Given the description of an element on the screen output the (x, y) to click on. 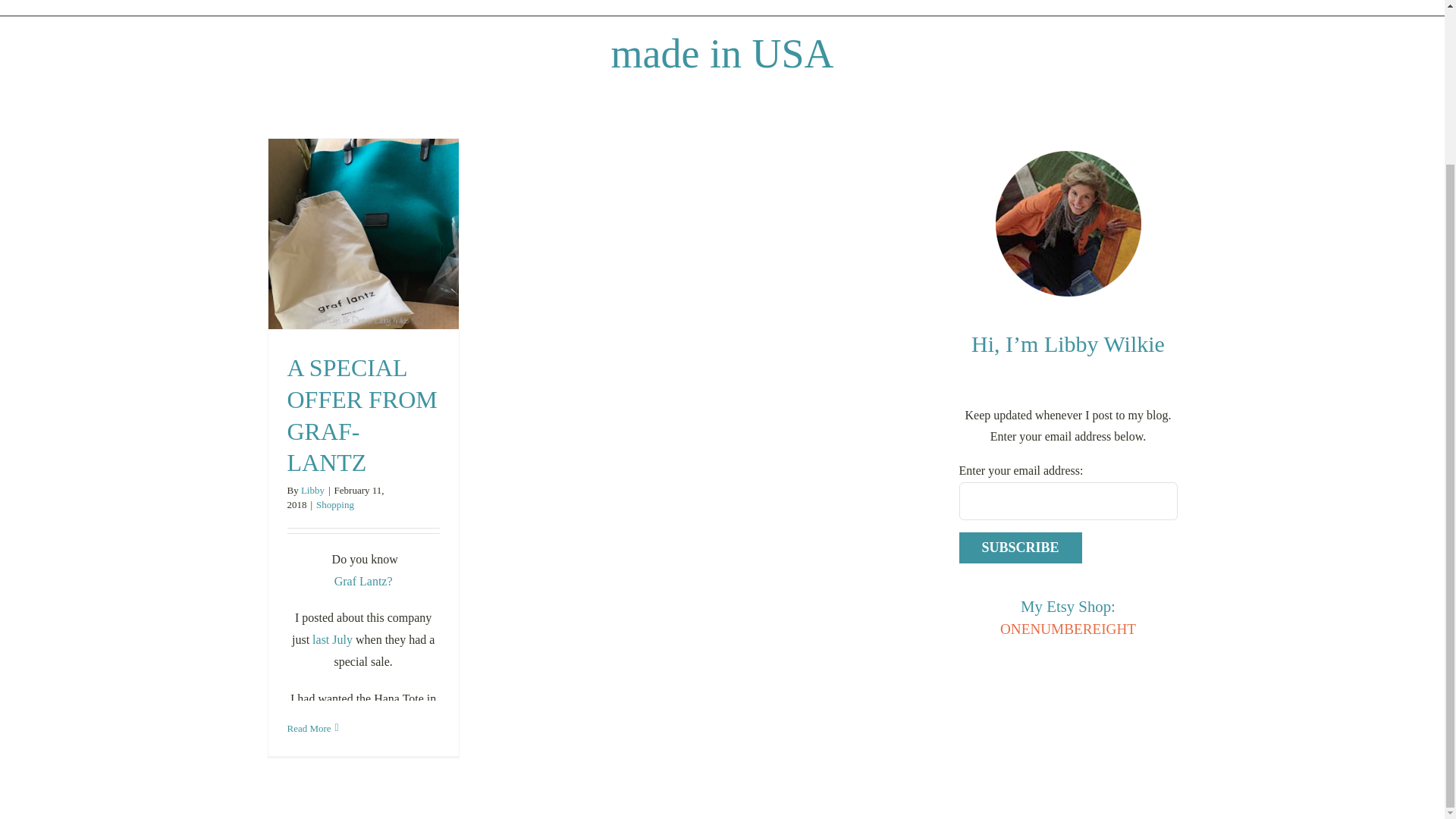
Posts by Libby (312, 490)
Subscribe (1019, 547)
Read More (308, 727)
last July (334, 639)
Shopping (334, 504)
Libby (312, 490)
Subscribe (1019, 547)
Graf Lantz? (363, 581)
A SPECIAL OFFER FROM GRAF- LANTZ (361, 414)
